Given the description of an element on the screen output the (x, y) to click on. 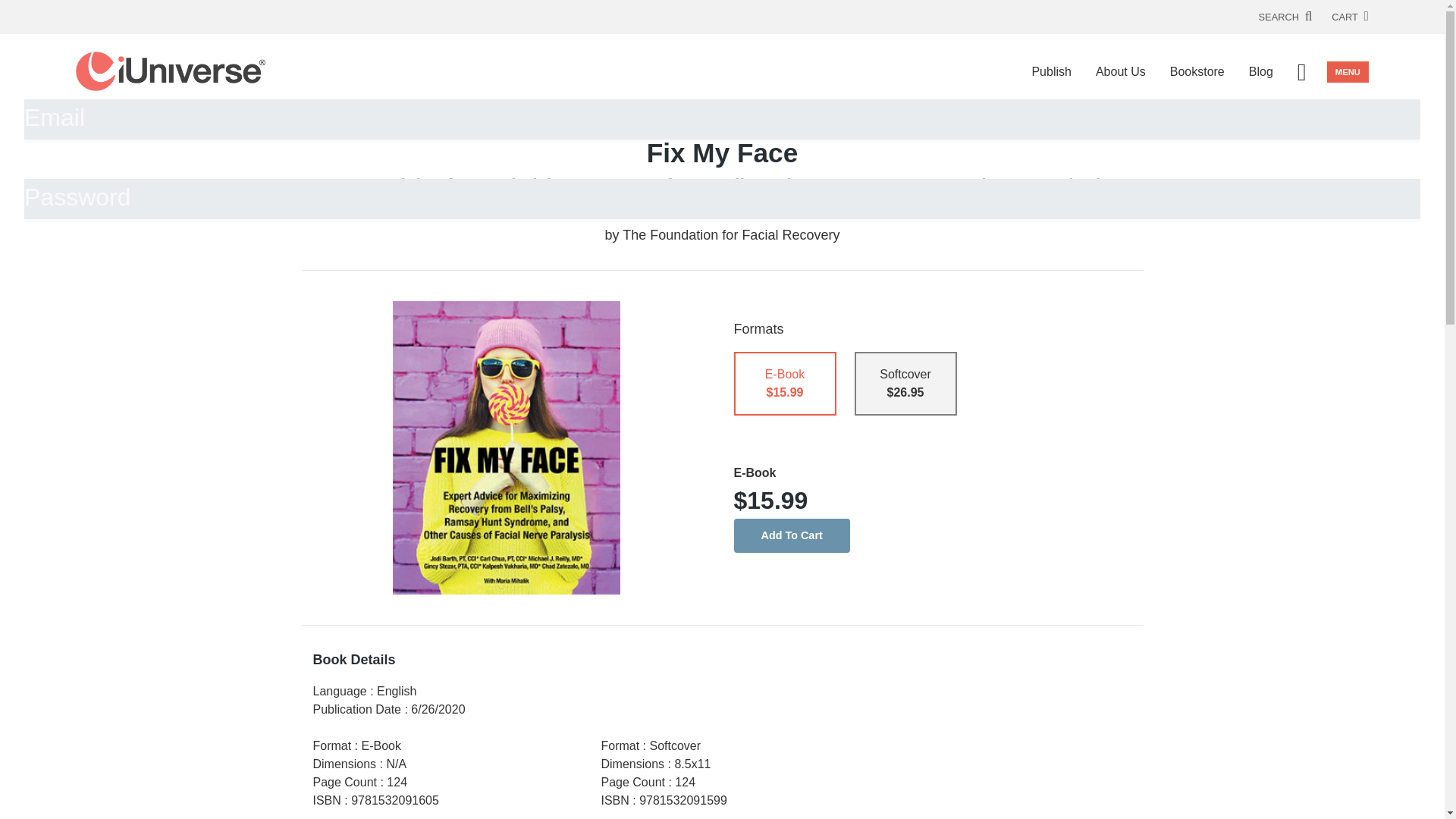
Blog (1260, 71)
Publish (1051, 71)
MENU (1347, 71)
Add To Cart (791, 535)
Bookstore (1196, 71)
About Us (1120, 71)
SEARCH (1286, 16)
CART (1350, 16)
